Given the description of an element on the screen output the (x, y) to click on. 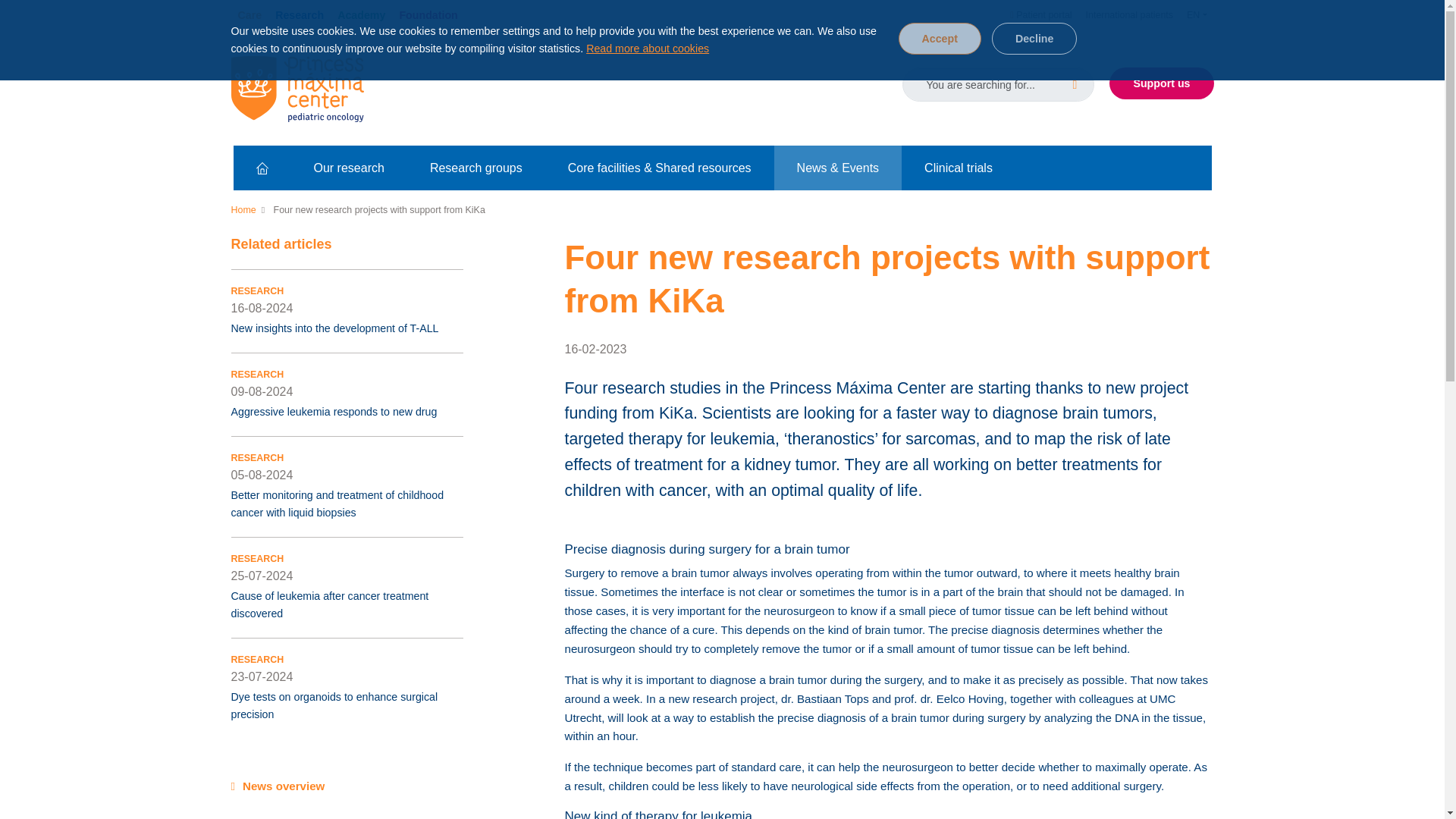
Accept (938, 38)
Read more about cookies (647, 48)
EN (1195, 16)
Patient portal (1040, 16)
Our research (349, 167)
Foundation (427, 16)
Research groups (475, 167)
Research (298, 16)
International patients (1128, 16)
Support us (1160, 83)
